Given the description of an element on the screen output the (x, y) to click on. 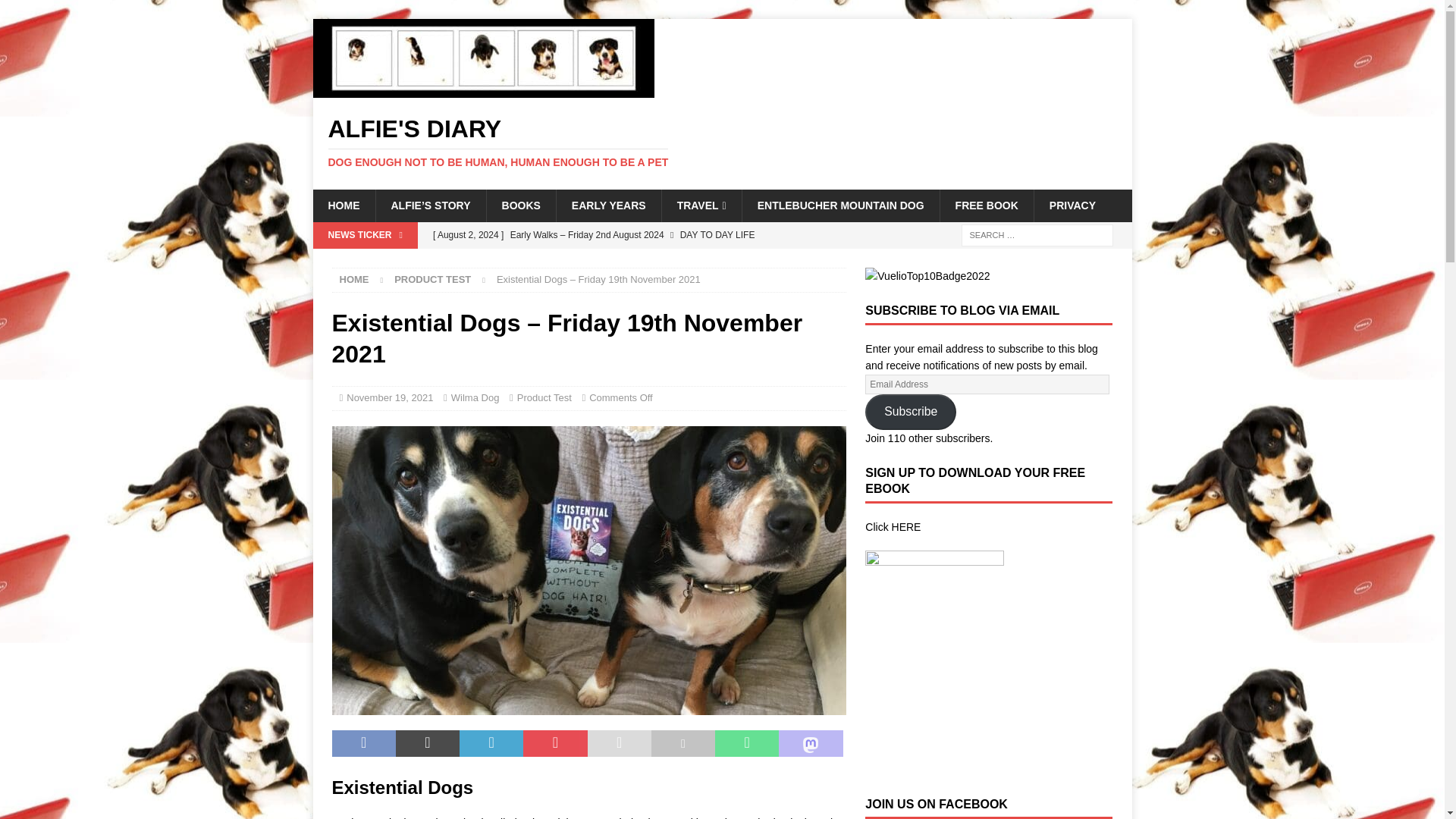
Tweet This Post (428, 743)
Alfie's Diary (483, 89)
Share on LinkedIn (491, 743)
Share on Facebook (363, 743)
Home (354, 279)
Product Test (432, 279)
Alfie's Diary (721, 142)
